Given the description of an element on the screen output the (x, y) to click on. 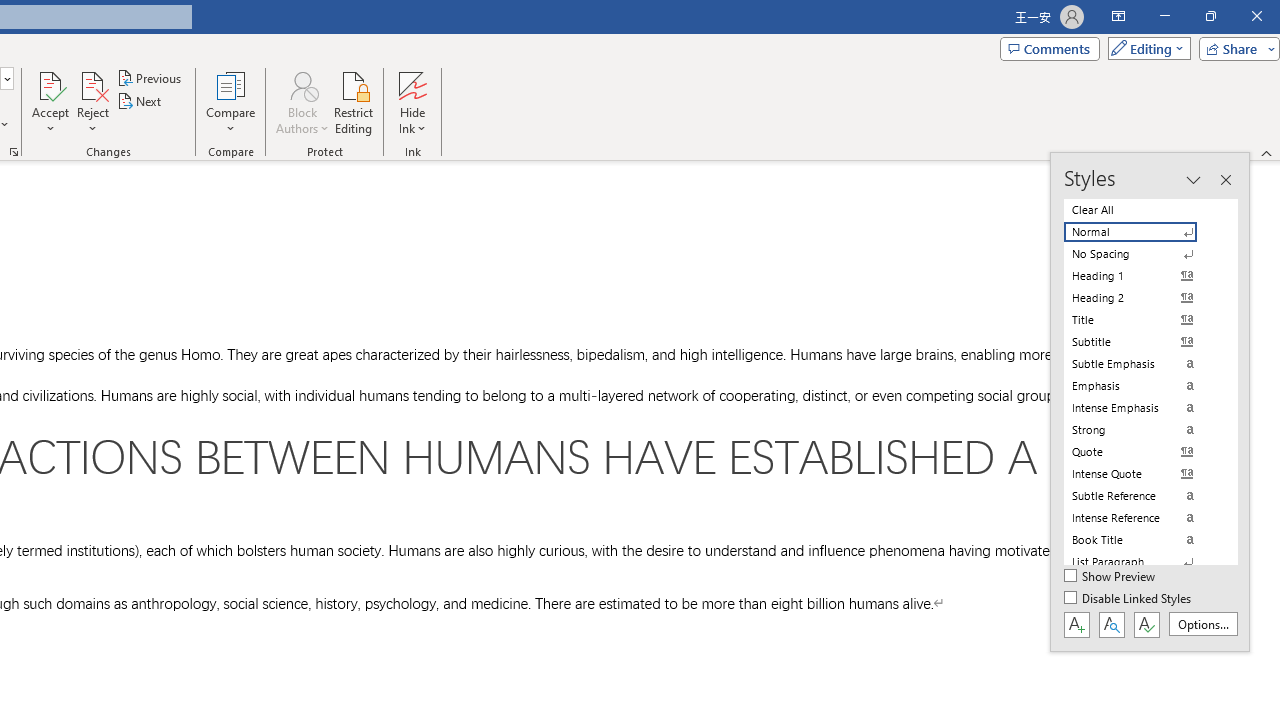
Accept (50, 102)
Intense Emphasis (1142, 407)
Reject (92, 102)
Normal (1142, 232)
No Spacing (1142, 253)
Heading 2 (1142, 297)
Block Authors (302, 102)
Show Preview (1110, 577)
Options... (1202, 623)
Quote (1142, 451)
Next (140, 101)
Class: NetUIButton (1146, 624)
Block Authors (302, 84)
